Given the description of an element on the screen output the (x, y) to click on. 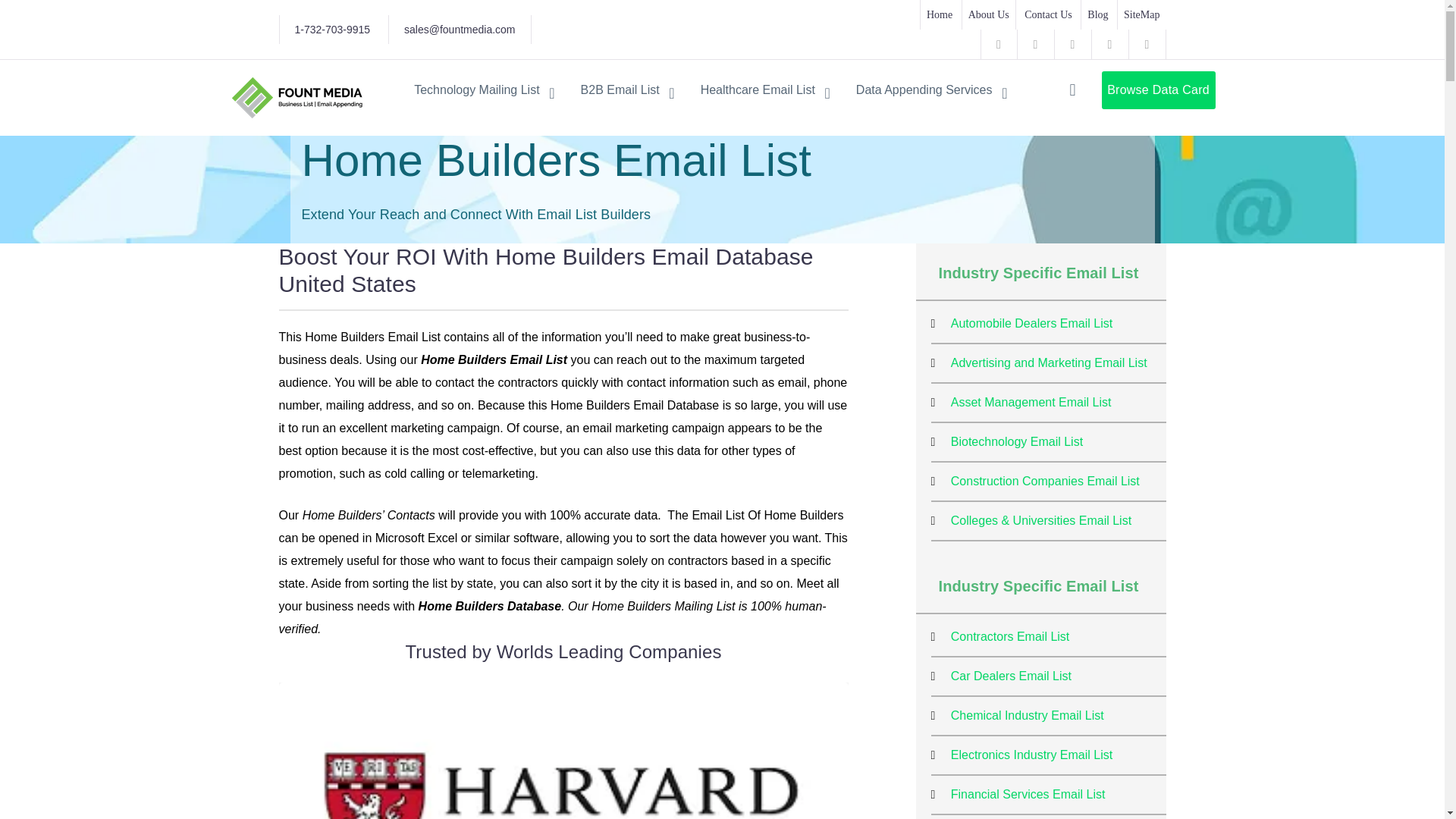
1-732-703-9915 (331, 28)
B2B Email List (627, 89)
Healthcare Email List (764, 89)
Contact Us (1047, 14)
LinkedIn Profile (1147, 43)
Youtube Profile (1035, 43)
Facebook Profile (997, 43)
Instagram Profile (1072, 43)
Technology Mailing List (483, 89)
LinkedIn (1147, 43)
Home (939, 14)
Pinterest Profile (1110, 43)
Browse Data Card (1157, 89)
Blog (1097, 14)
Facebook (997, 43)
